Given the description of an element on the screen output the (x, y) to click on. 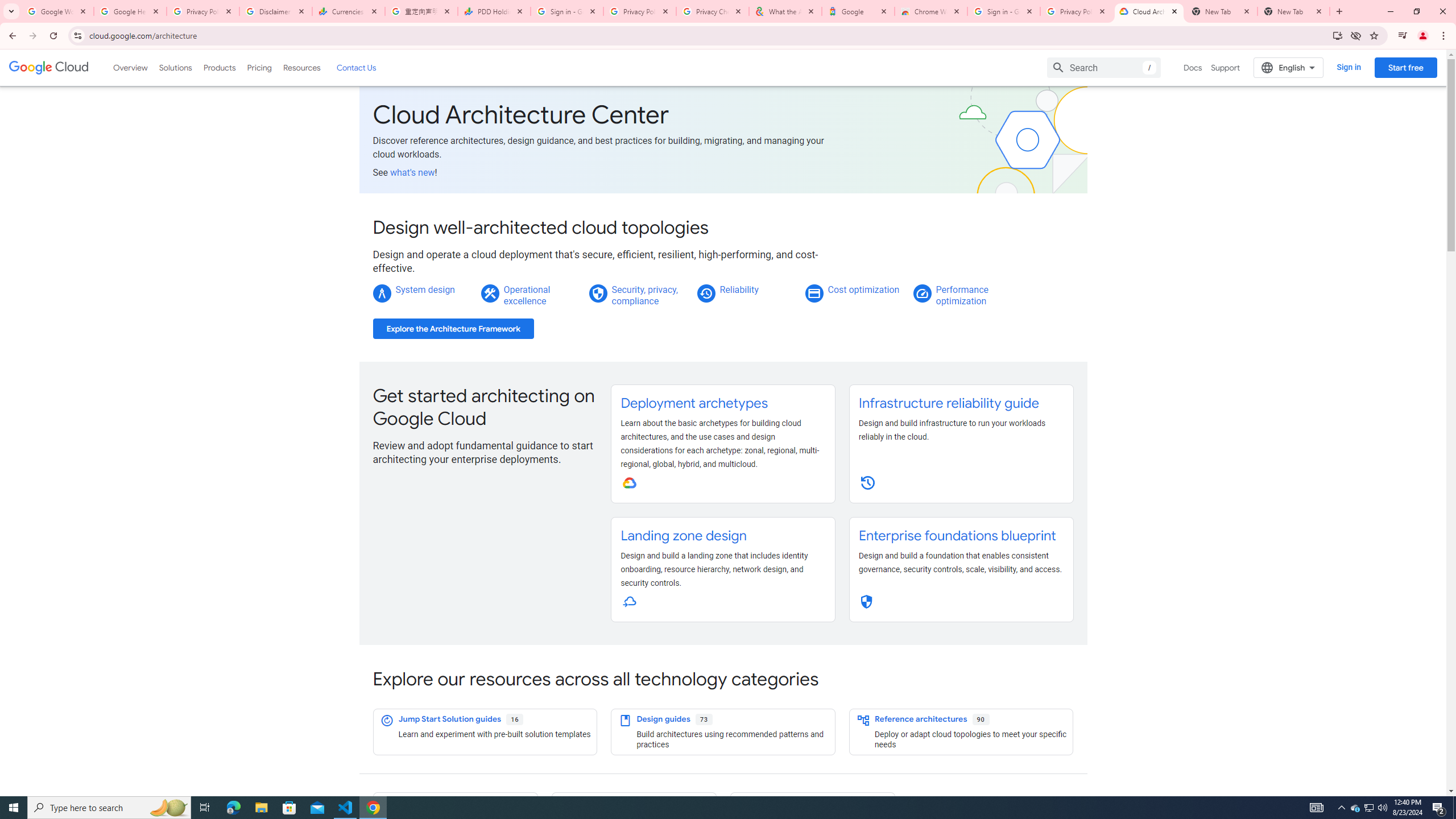
Reliability (738, 289)
Deployment archetypes (694, 402)
Docs (1192, 67)
